Given the description of an element on the screen output the (x, y) to click on. 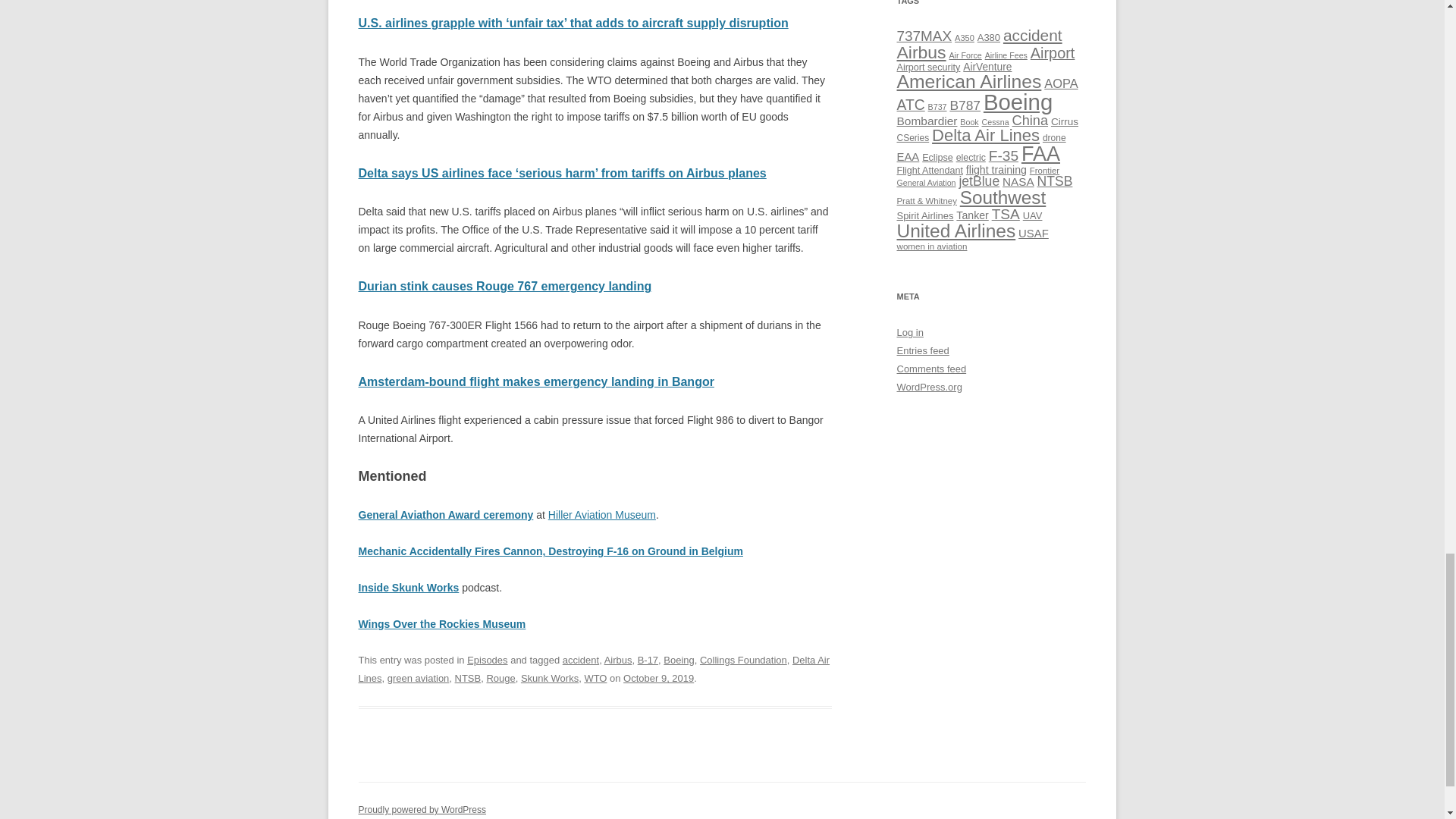
Inside Skunk Works (408, 587)
Hiller Aviation Museum (602, 514)
8:07 am (658, 677)
accident (580, 659)
Airbus (617, 659)
Semantic Personal Publishing Platform (422, 809)
General Aviathon Award ceremony (445, 514)
Durian stink causes Rouge 767 emergency landing (504, 286)
Wings Over the Rockies Museum (441, 623)
